Given the description of an element on the screen output the (x, y) to click on. 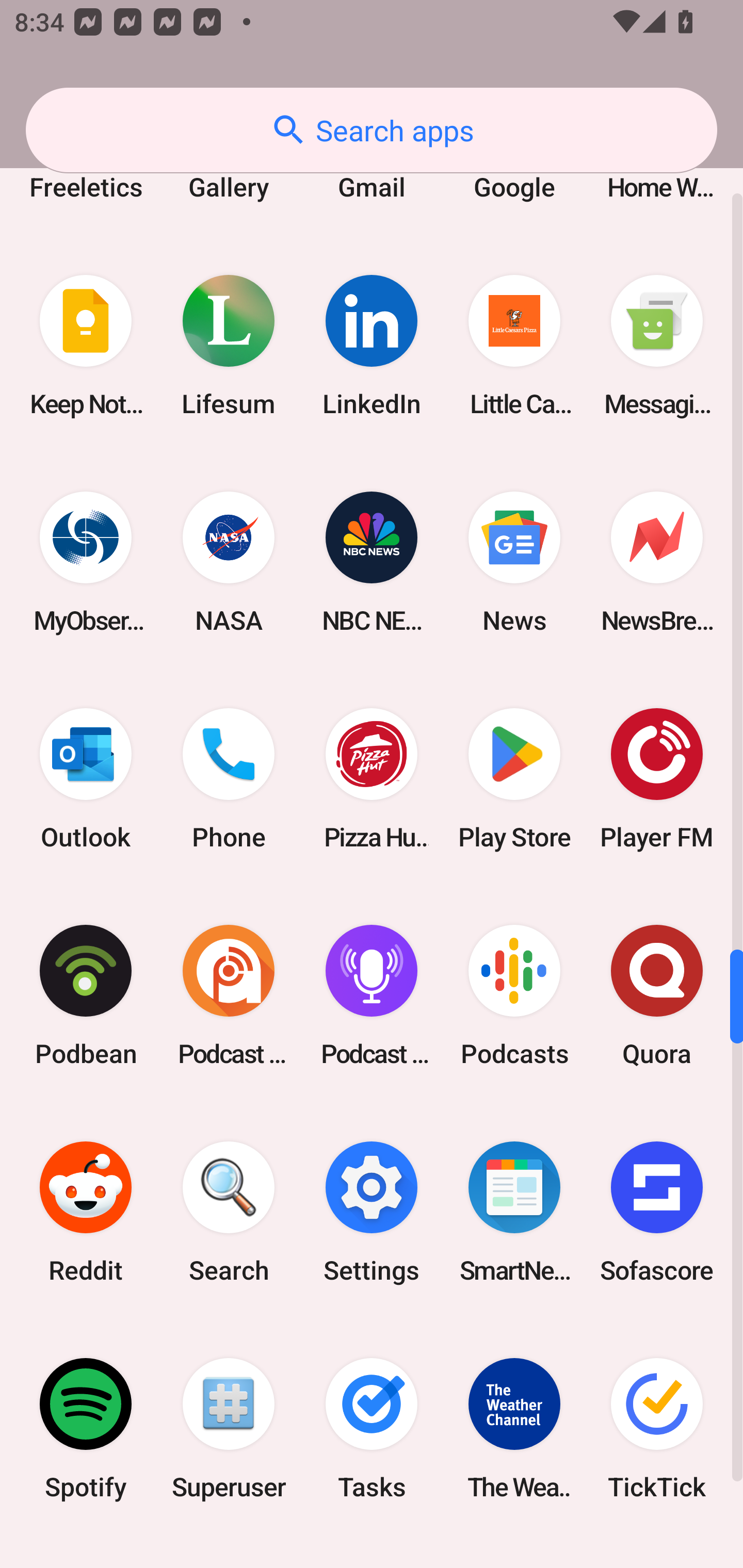
  Search apps (371, 130)
Keep Notes (85, 344)
Lifesum (228, 344)
LinkedIn (371, 344)
Little Caesars Pizza (514, 344)
Messaging (656, 344)
MyObservatory (85, 562)
NASA (228, 562)
NBC NEWS (371, 562)
News (514, 562)
NewsBreak (656, 562)
Outlook (85, 779)
Phone (228, 779)
Pizza Hut HK & Macau (371, 779)
Play Store (514, 779)
Player FM (656, 779)
Podbean (85, 995)
Podcast Addict (228, 995)
Podcast Player (371, 995)
Podcasts (514, 995)
Quora (656, 995)
Reddit (85, 1211)
Search (228, 1211)
Settings (371, 1211)
SmartNews (514, 1211)
Sofascore (656, 1211)
Spotify (85, 1428)
Superuser (228, 1428)
Tasks (371, 1428)
The Weather Channel (514, 1428)
TickTick (656, 1428)
